Given the description of an element on the screen output the (x, y) to click on. 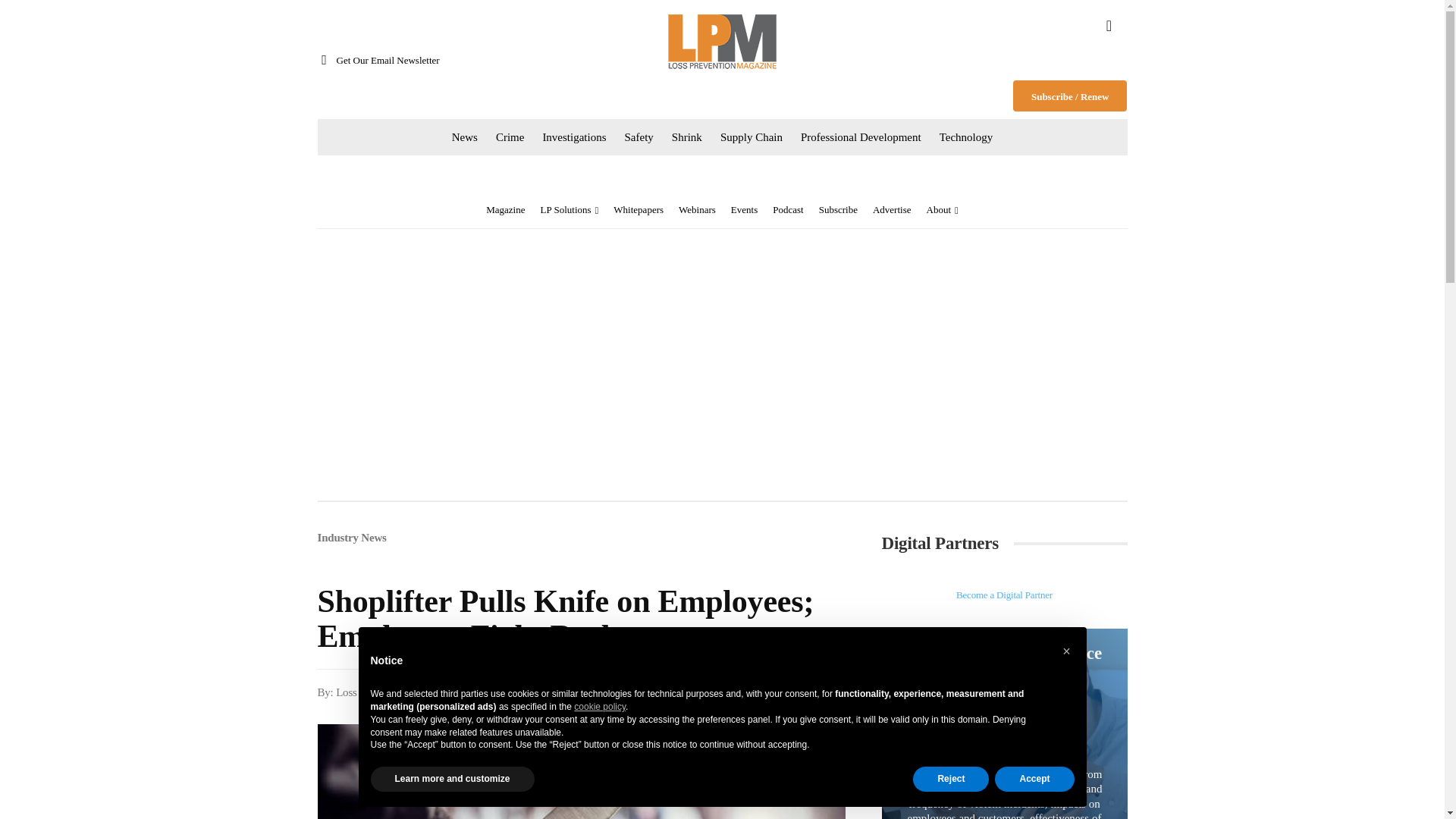
Loss Prevention Media (721, 41)
Loss Prevention Media (721, 41)
knife-stab-robbery-assault-1280x720 (580, 771)
News (464, 136)
